Given the description of an element on the screen output the (x, y) to click on. 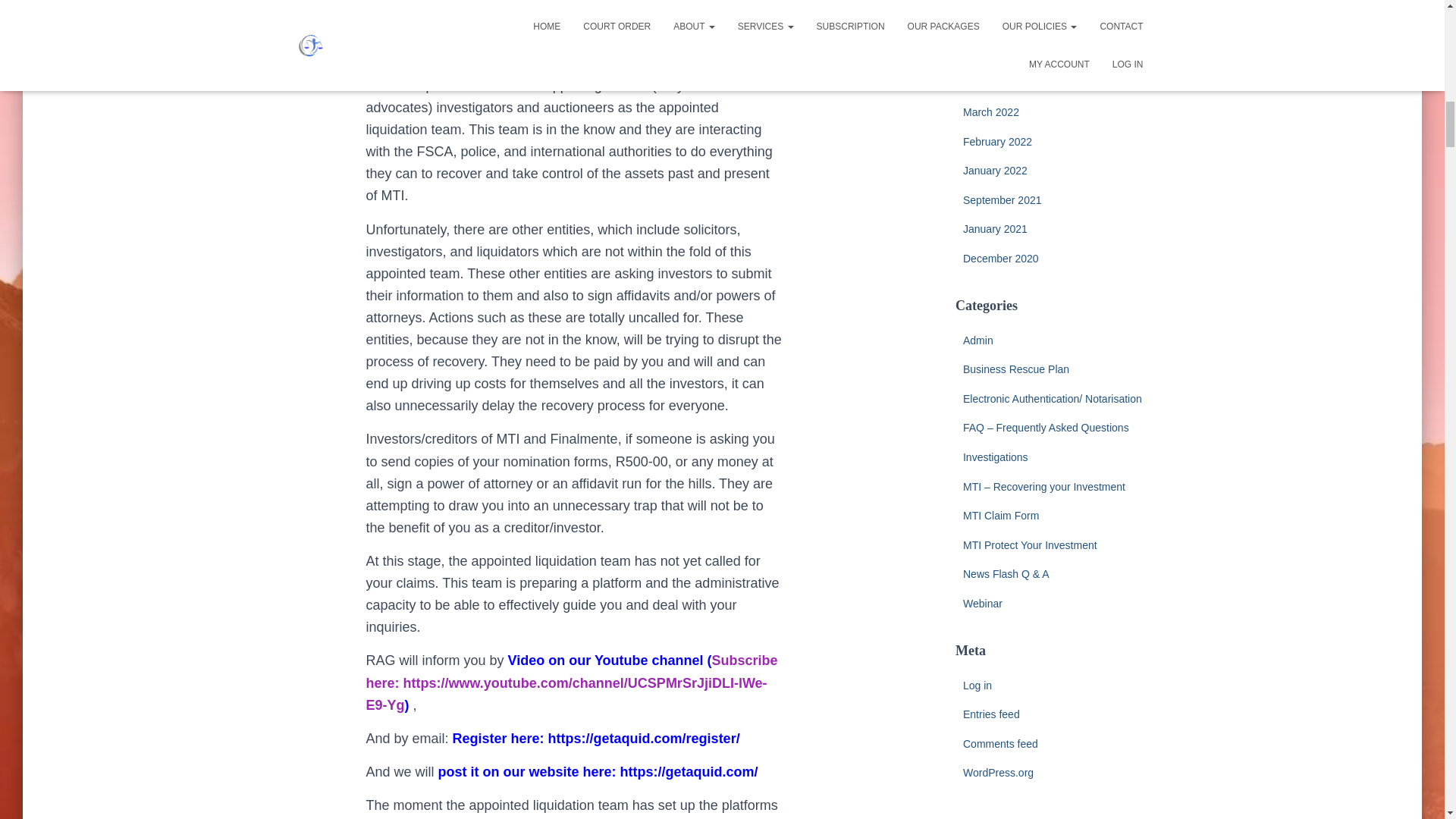
Register here: (500, 738)
